Given the description of an element on the screen output the (x, y) to click on. 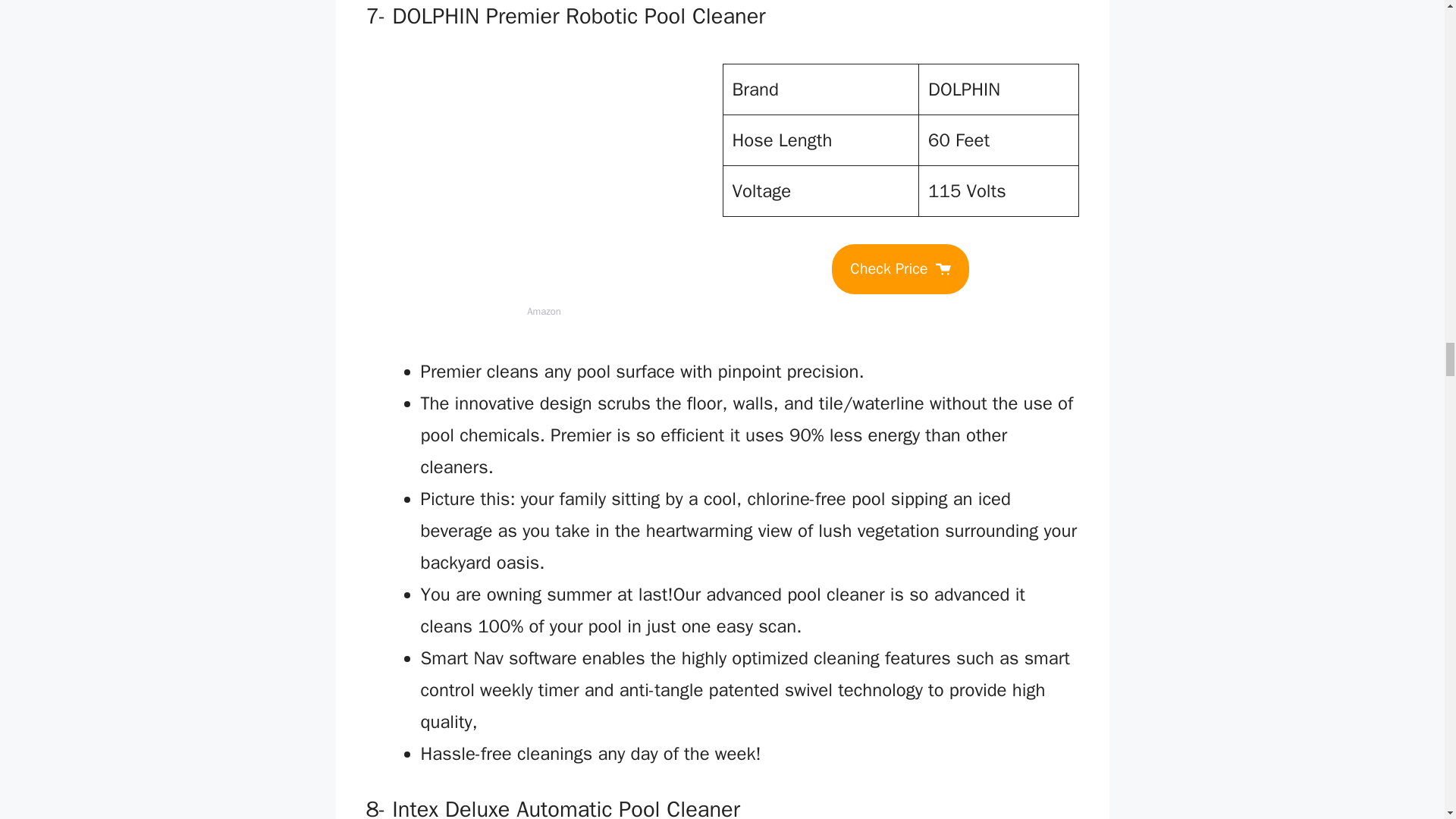
Check Price (899, 269)
